Given the description of an element on the screen output the (x, y) to click on. 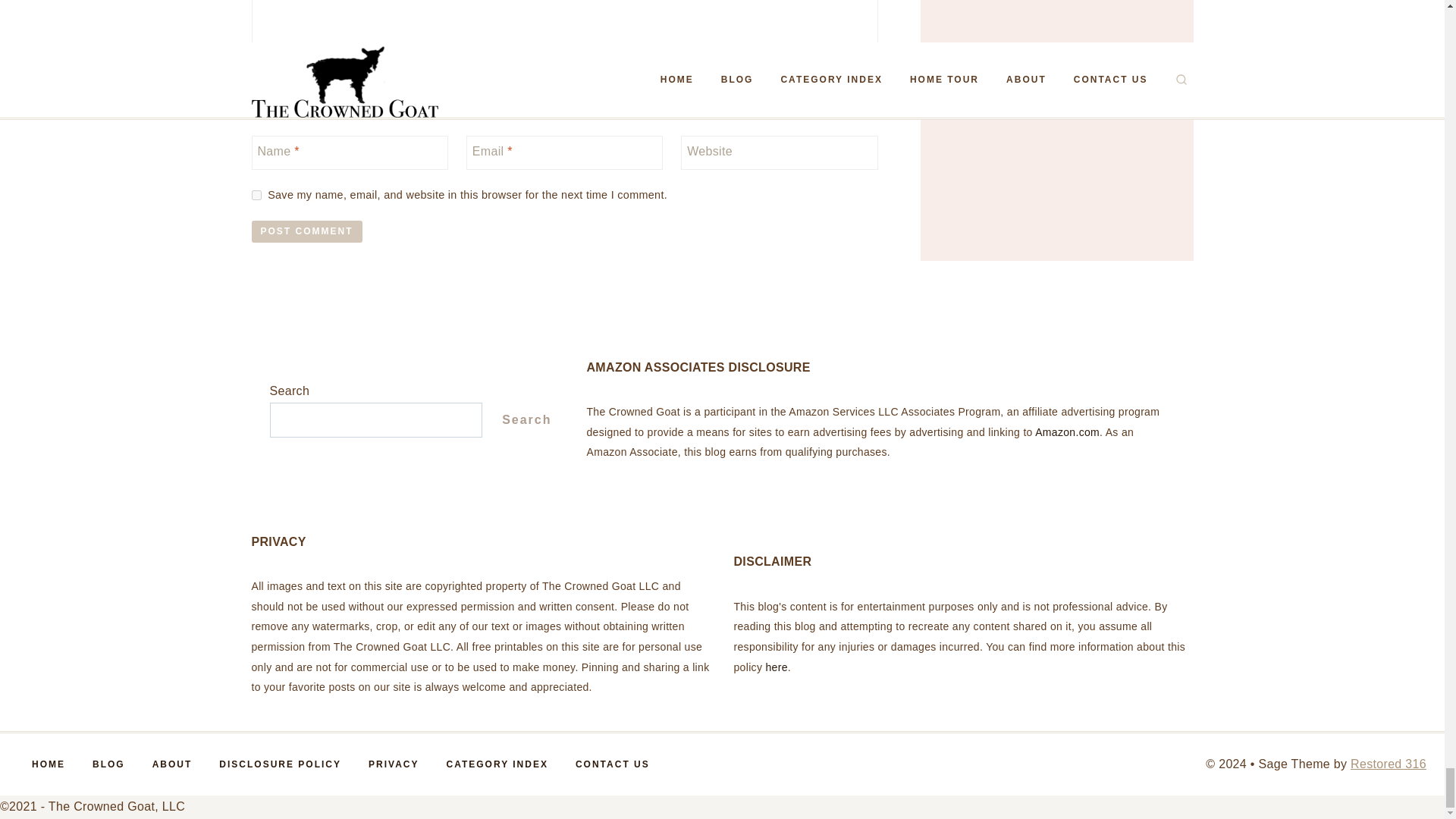
Post Comment (306, 231)
yes (256, 194)
